Given the description of an element on the screen output the (x, y) to click on. 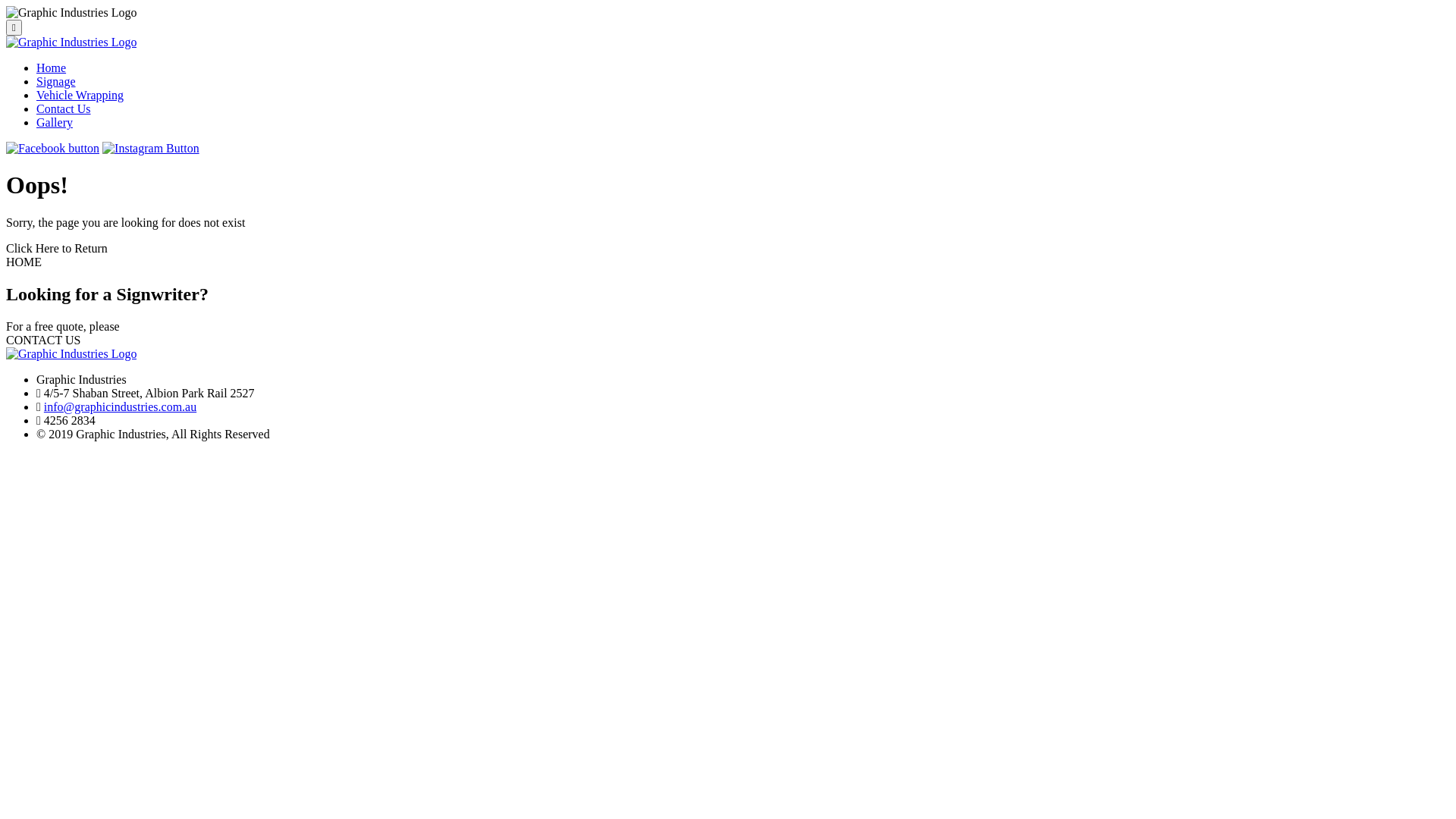
Signage Element type: text (55, 81)
Vehicle Wrapping Element type: text (79, 94)
Click Here to Return
HOME Element type: text (727, 255)
Contact Us Element type: text (63, 108)
info@graphicindustries.com.au Element type: text (119, 406)
Gallery Element type: text (54, 122)
For a free quote, please
CONTACT US Element type: text (727, 333)
Home Element type: text (50, 67)
